Given the description of an element on the screen output the (x, y) to click on. 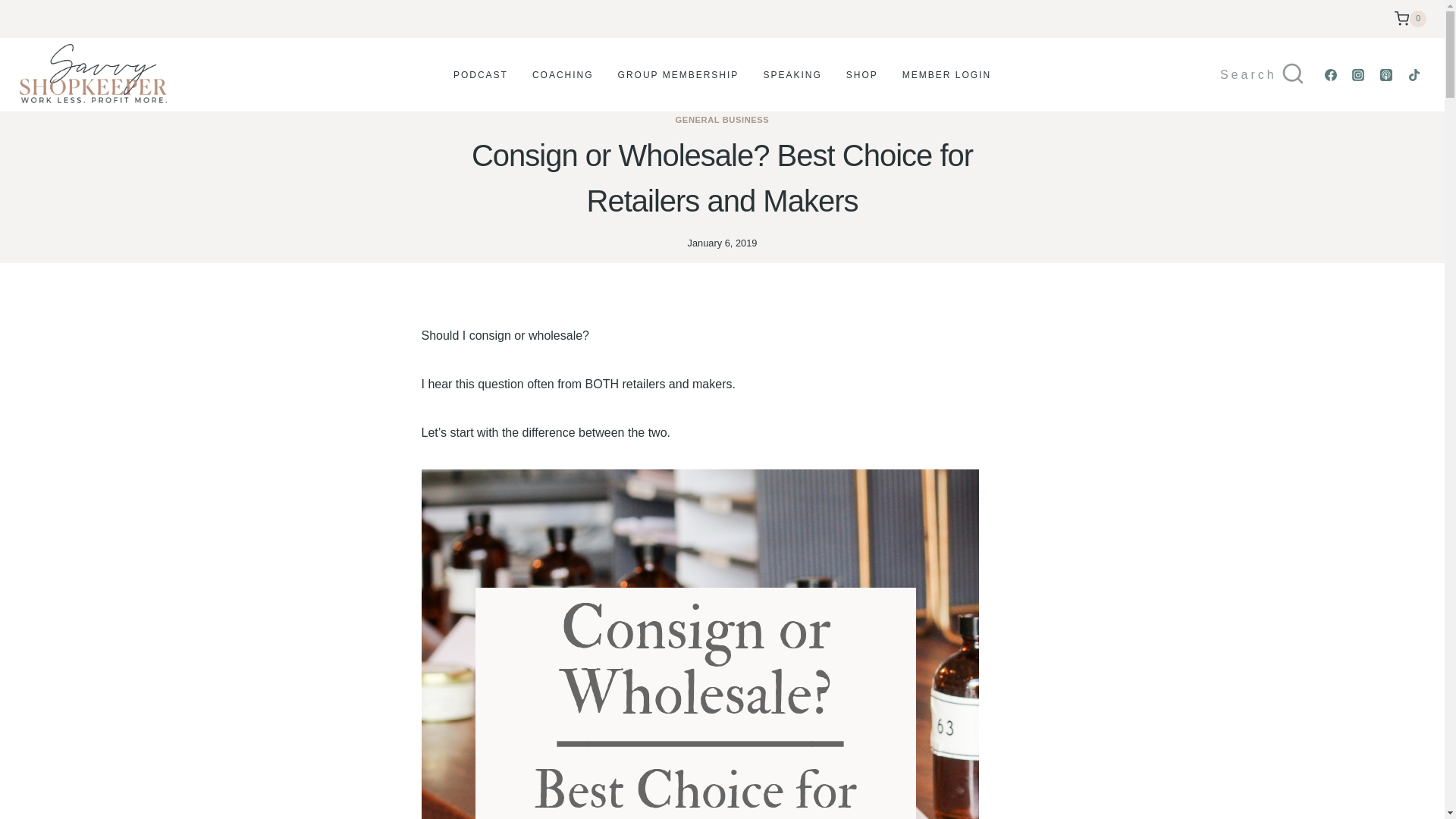
COACHING (562, 73)
SHOP (861, 73)
0 (1410, 18)
MEMBER LOGIN (946, 73)
SPEAKING (791, 73)
Search (1262, 74)
GENERAL BUSINESS (722, 119)
GROUP MEMBERSHIP (678, 73)
PODCAST (480, 73)
